Given the description of an element on the screen output the (x, y) to click on. 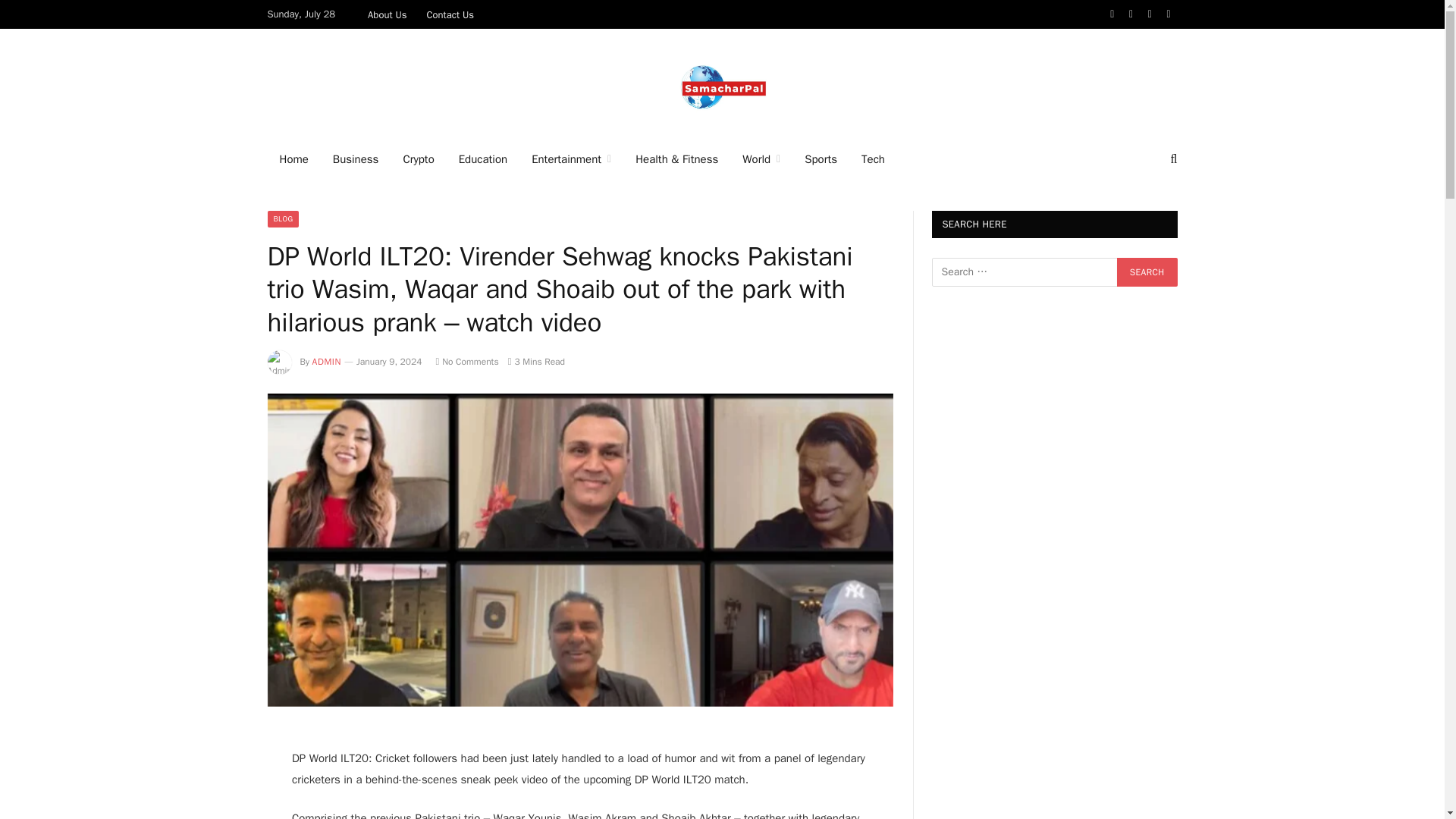
No Comments (466, 361)
Entertainment (571, 159)
Business (355, 159)
Home (293, 159)
About Us (387, 14)
Sports (820, 159)
Search (1146, 271)
Search (1146, 271)
Tech (872, 159)
Crypto (417, 159)
ADMIN (326, 361)
BLOG (282, 218)
World (761, 159)
Posts by Admin (326, 361)
Education (482, 159)
